Given the description of an element on the screen output the (x, y) to click on. 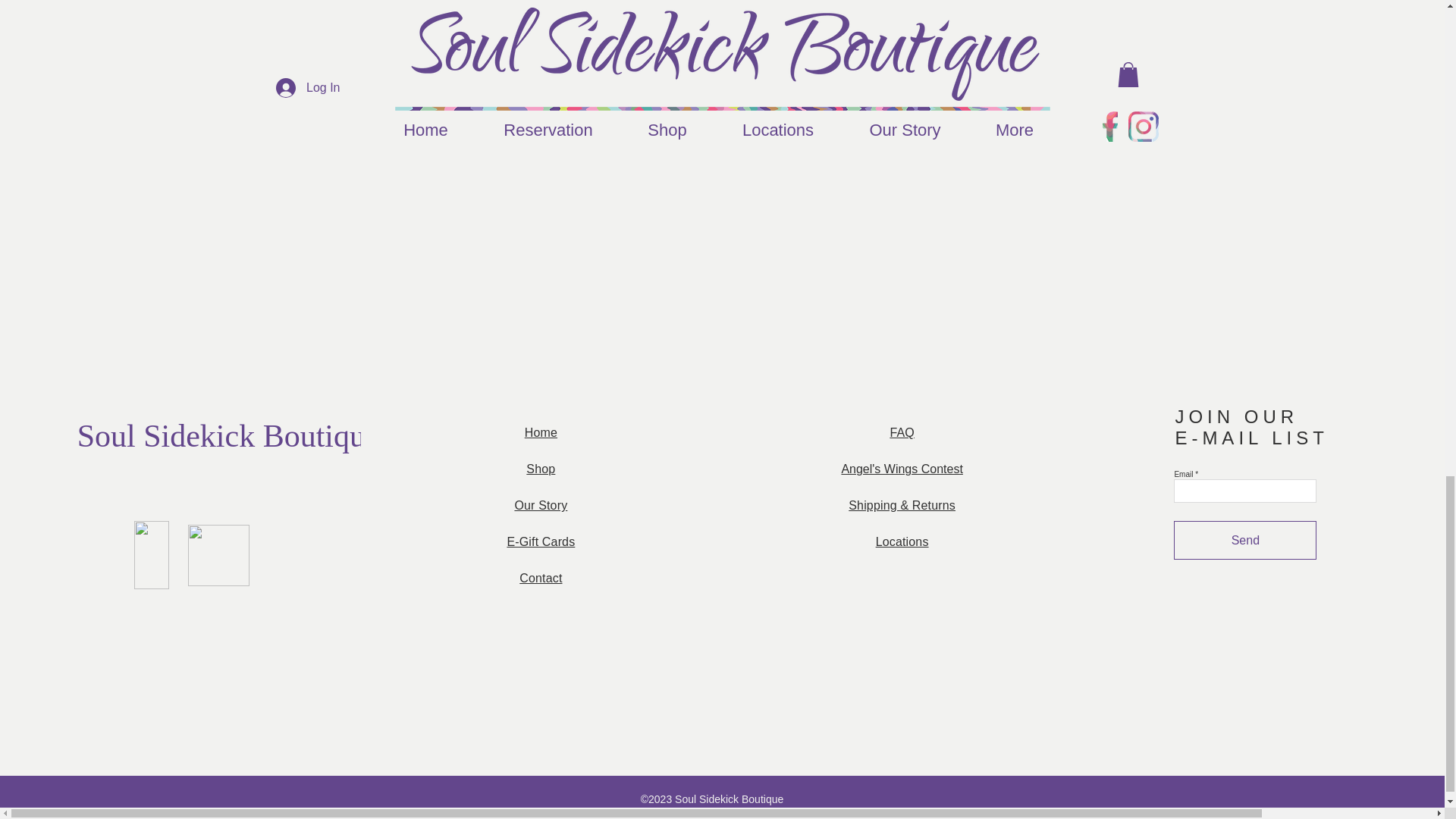
SSB SM Icon INSTA.png (217, 555)
Shop (539, 468)
Angel's Wings Contest (901, 468)
FAQ (901, 431)
Soul Sidekick Boutique (228, 435)
Home (540, 431)
E-Gift Cards (540, 541)
Send (1244, 539)
Locations (902, 541)
Our Story (540, 504)
Contact (540, 577)
SSB SM Icon FACEBOOK.png (150, 554)
